Given the description of an element on the screen output the (x, y) to click on. 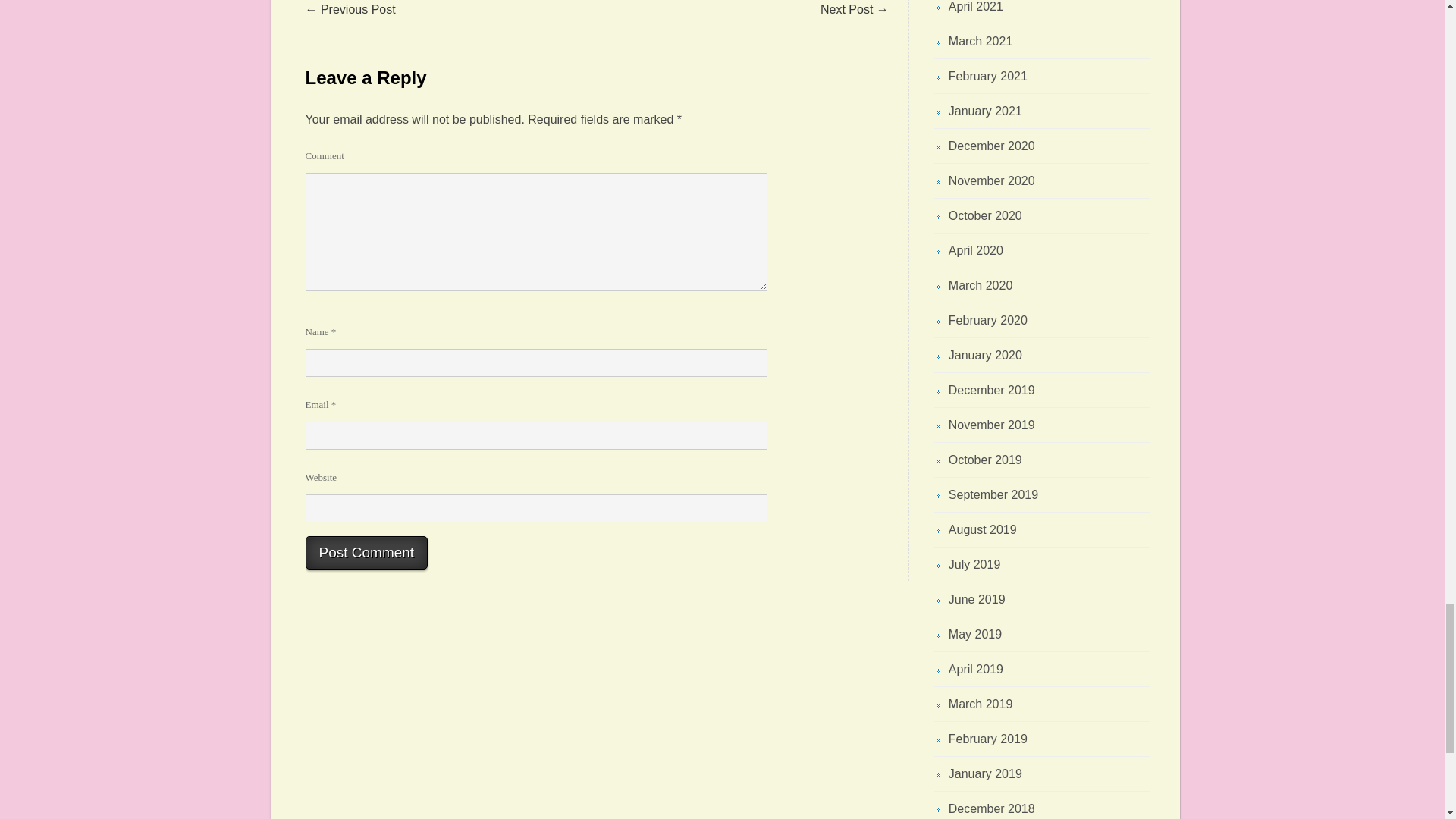
Post Comment (366, 552)
